Given the description of an element on the screen output the (x, y) to click on. 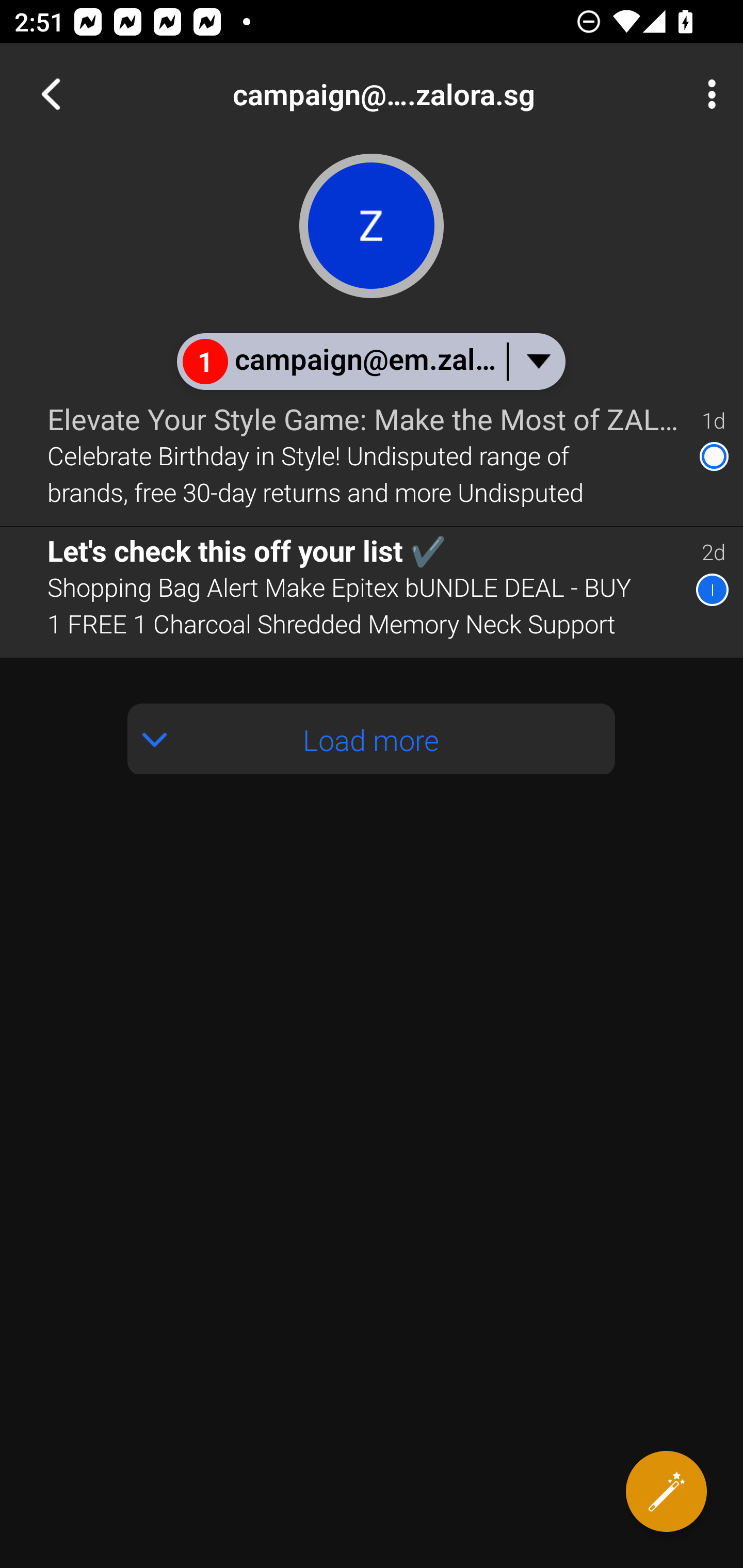
Navigate up (50, 93)
campaign@em.zalora.sg (436, 93)
More Options (706, 93)
1 campaign@em.zalora.sg & You (370, 361)
Load more (371, 739)
